Given the description of an element on the screen output the (x, y) to click on. 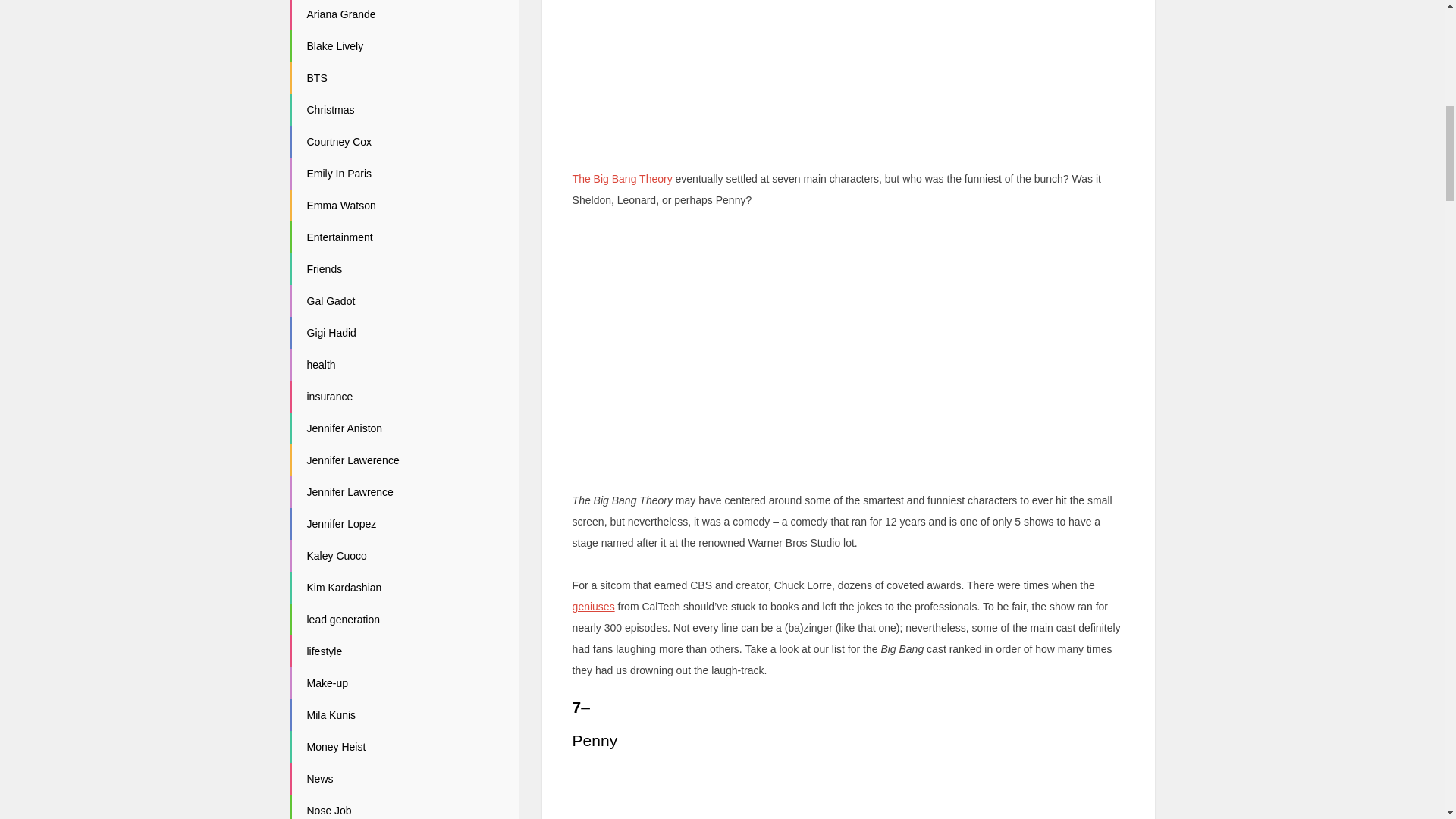
The Big Bang Theory (622, 178)
Ariana Grande (340, 14)
geniuses (593, 606)
